Given the description of an element on the screen output the (x, y) to click on. 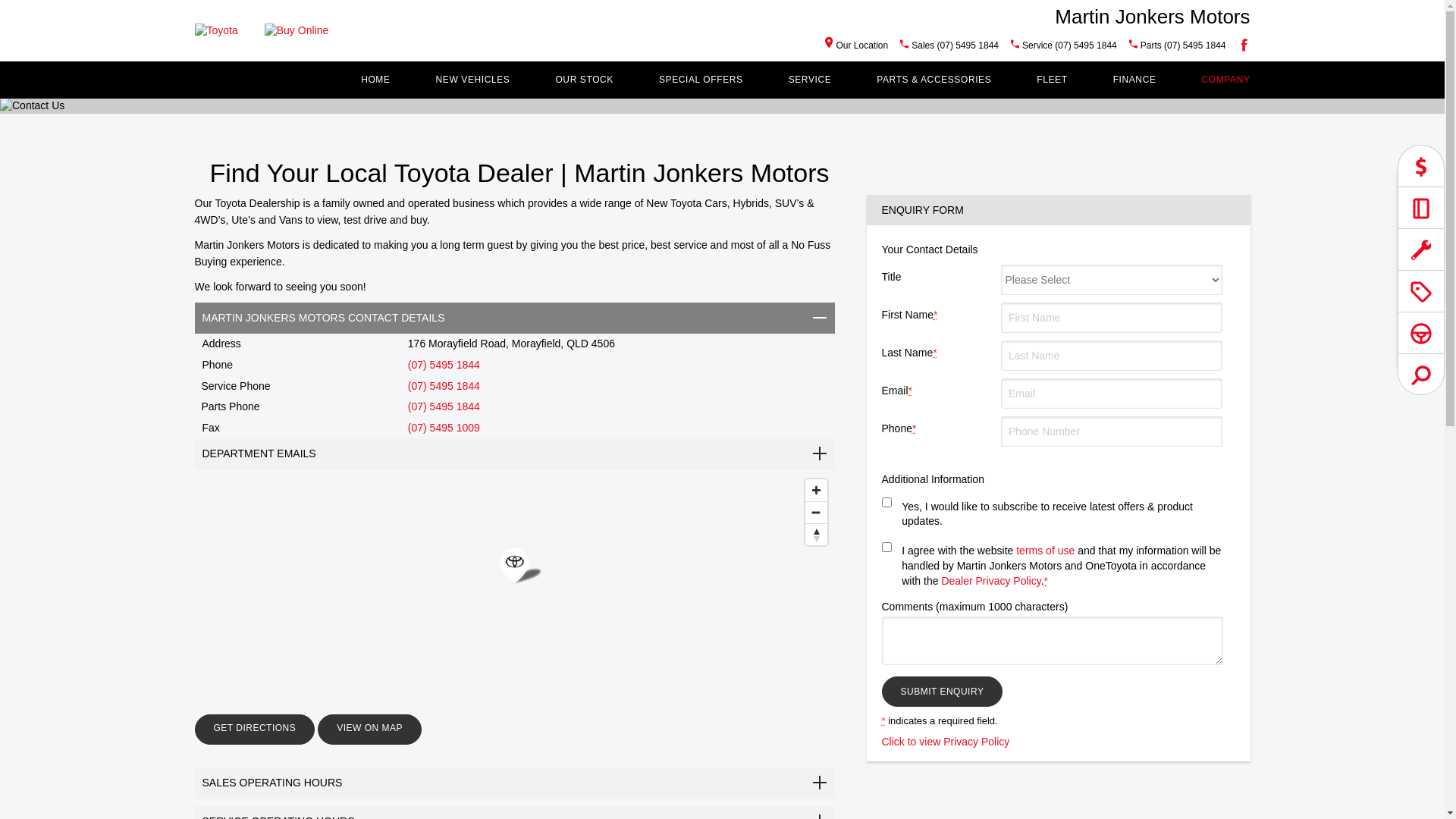
(07) 5495 1844 Element type: text (443, 364)
PARTS & ACCESSORIES Element type: text (933, 80)
OUR STOCK Element type: text (584, 80)
FINANCE Element type: text (1134, 80)
SALES OPERATING HOURS Element type: text (514, 782)
Dealer Privacy Policy Element type: text (990, 580)
MARTIN JONKERS MOTORS CONTACT DETAILS Element type: text (514, 317)
Zoom in Element type: hover (816, 490)
VIEW ON MAP Element type: text (369, 729)
Sales (07) 5495 1844 Element type: text (954, 45)
Parts (07) 5495 1844 Element type: text (1183, 45)
COMPANY Element type: text (1225, 80)
terms of use Element type: text (1045, 550)
NEW VEHICLES Element type: text (473, 80)
SPECIAL OFFERS Element type: text (700, 80)
Click to view Privacy Policy Element type: text (945, 741)
Our Location Element type: text (856, 45)
SERVICE Element type: text (809, 80)
(07) 5495 1844 Element type: text (443, 406)
(07) 5495 1009 Element type: text (443, 427)
FLEET Element type: text (1051, 80)
Zoom out Element type: hover (816, 512)
Submit Enquiry Element type: text (941, 691)
GET DIRECTIONS Element type: text (254, 729)
Facebook Element type: text (1241, 44)
Martin Jonkers Motors Element type: text (1151, 15)
(07) 5495 1844 Element type: text (443, 385)
Service (07) 5495 1844 Element type: text (1069, 45)
DEPARTMENT EMAILS Element type: text (514, 453)
Reset bearing to north Element type: hover (816, 534)
HOME Element type: text (374, 80)
